Given the description of an element on the screen output the (x, y) to click on. 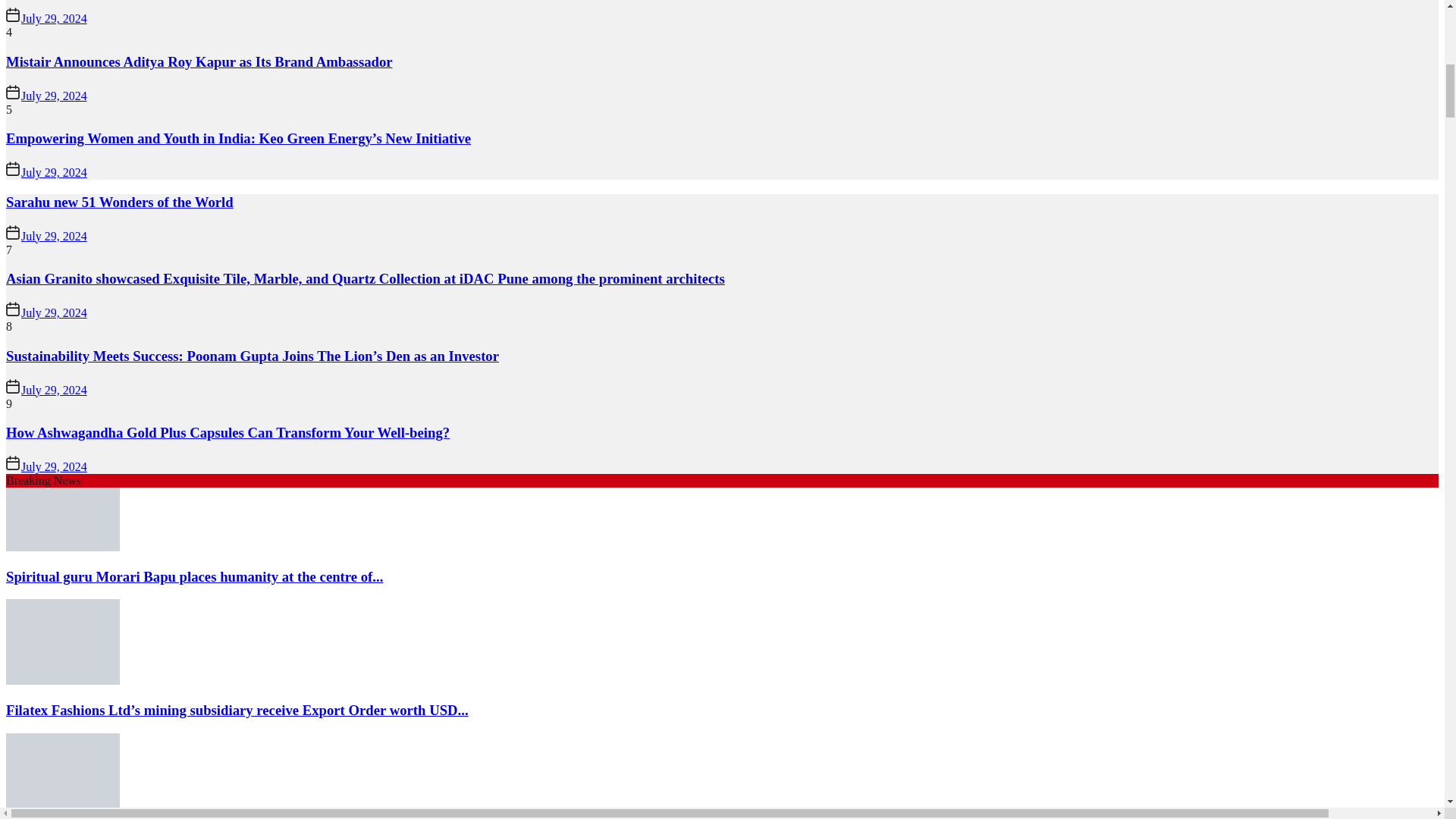
July 29, 2024 (54, 95)
Sarahu new 51 Wonders of the World (118, 201)
Mistair Announces Aditya Roy Kapur as Its Brand Ambassador (199, 61)
July 29, 2024 (54, 18)
Sarahu new 51 Wonders of the World (118, 201)
July 29, 2024 (54, 172)
Mistair Announces Aditya Roy Kapur as Its Brand Ambassador (199, 61)
July 29, 2024 (54, 236)
